Given the description of an element on the screen output the (x, y) to click on. 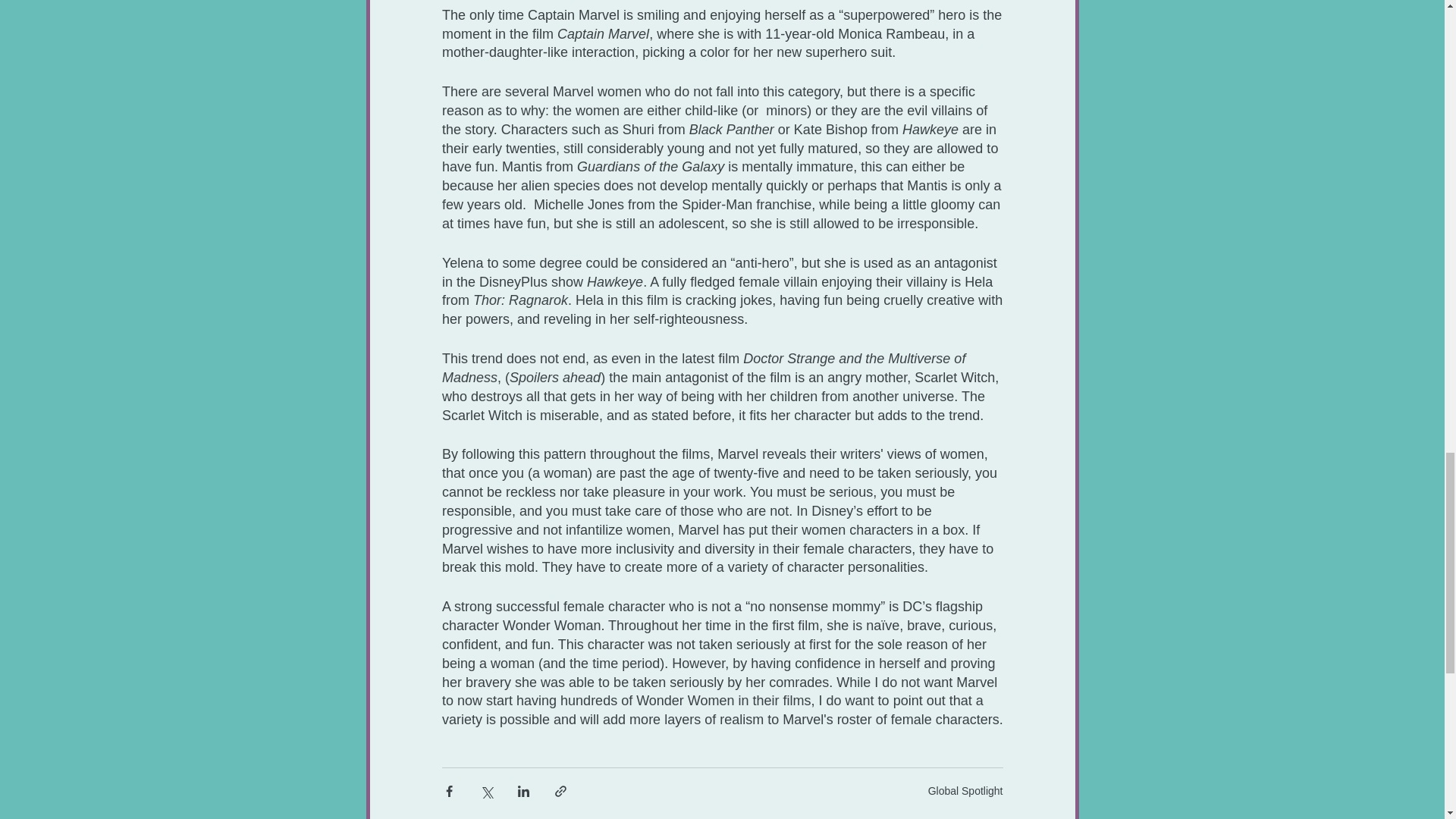
Global Spotlight (965, 789)
